Given the description of an element on the screen output the (x, y) to click on. 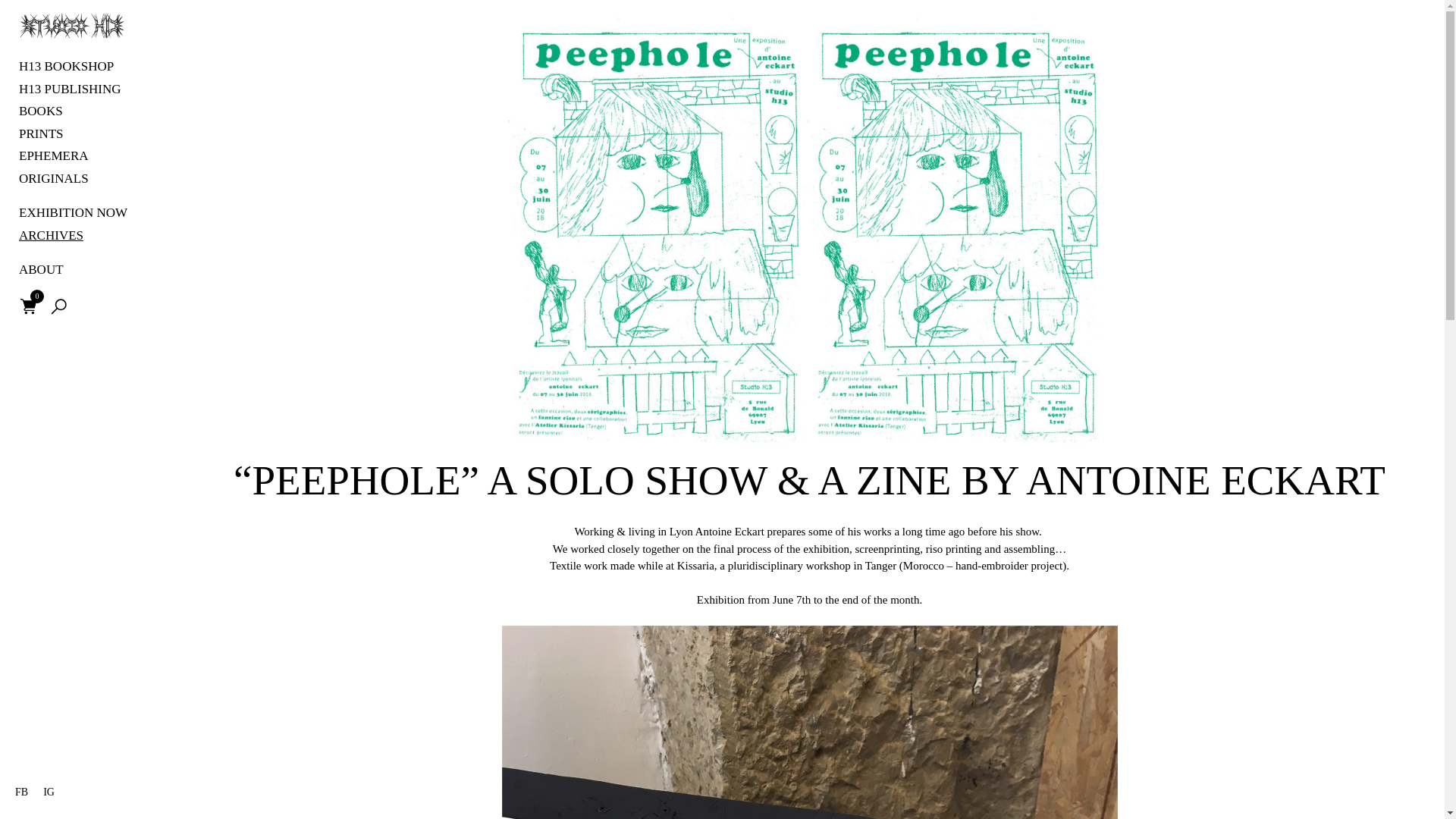
0 (36, 296)
FB (20, 791)
PRINTS (94, 134)
ABOUT (94, 270)
ARCHIVES (94, 235)
EPHEMERA (94, 156)
H13 PUBLISHING (94, 88)
Studio H13 (44, 76)
BOOKS (94, 111)
H13 BOOKSHOP (94, 66)
